Given the description of an element on the screen output the (x, y) to click on. 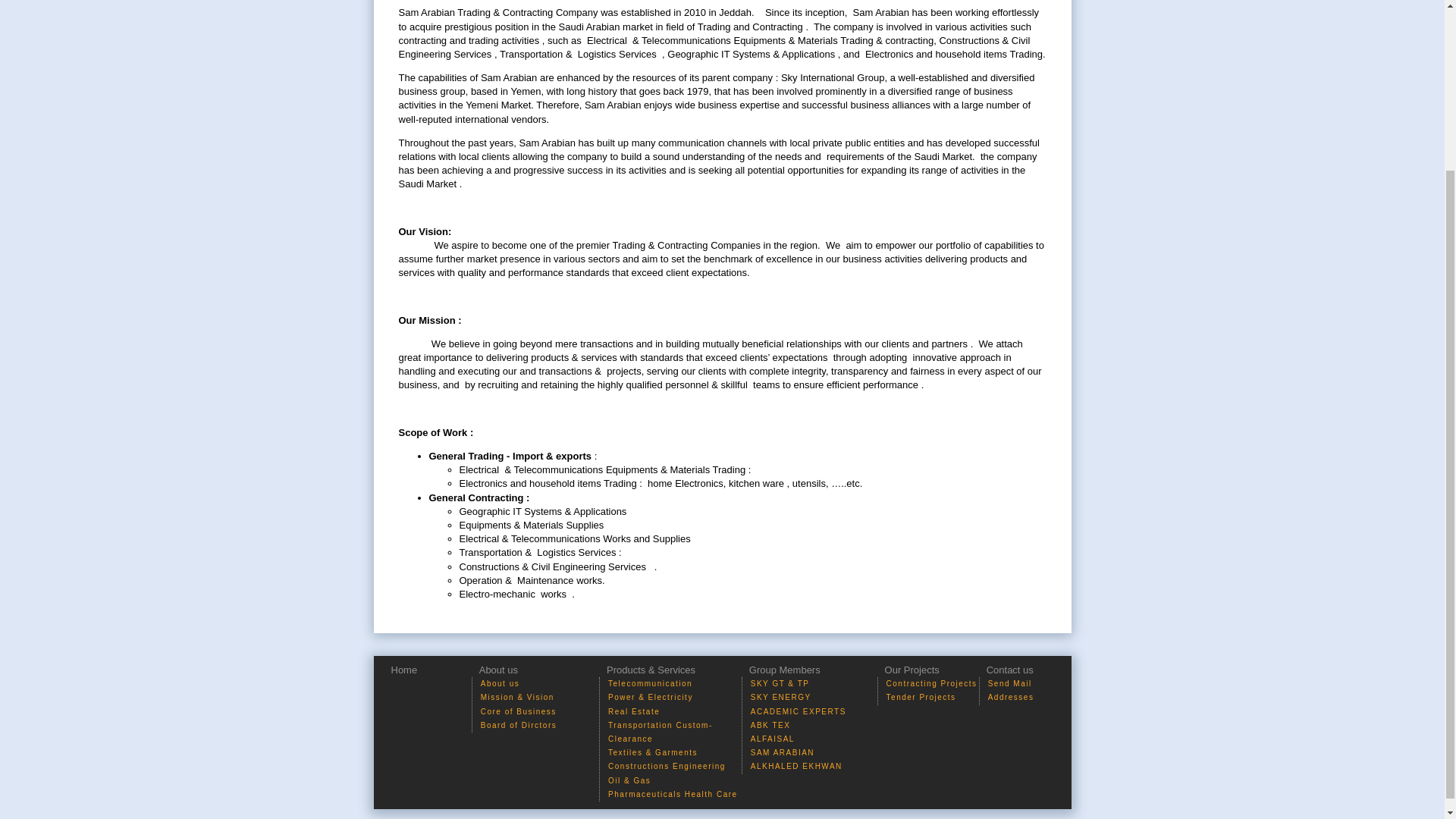
About us (499, 683)
Addresses (1010, 696)
Contracting Projects (931, 683)
ALKHALED EKHWAN (797, 766)
ABK TEX (770, 725)
Tender Projects (921, 696)
Real Estate (633, 711)
Constructions Engineering (666, 766)
Send Mail (1010, 683)
Telecommunication (650, 683)
